Given the description of an element on the screen output the (x, y) to click on. 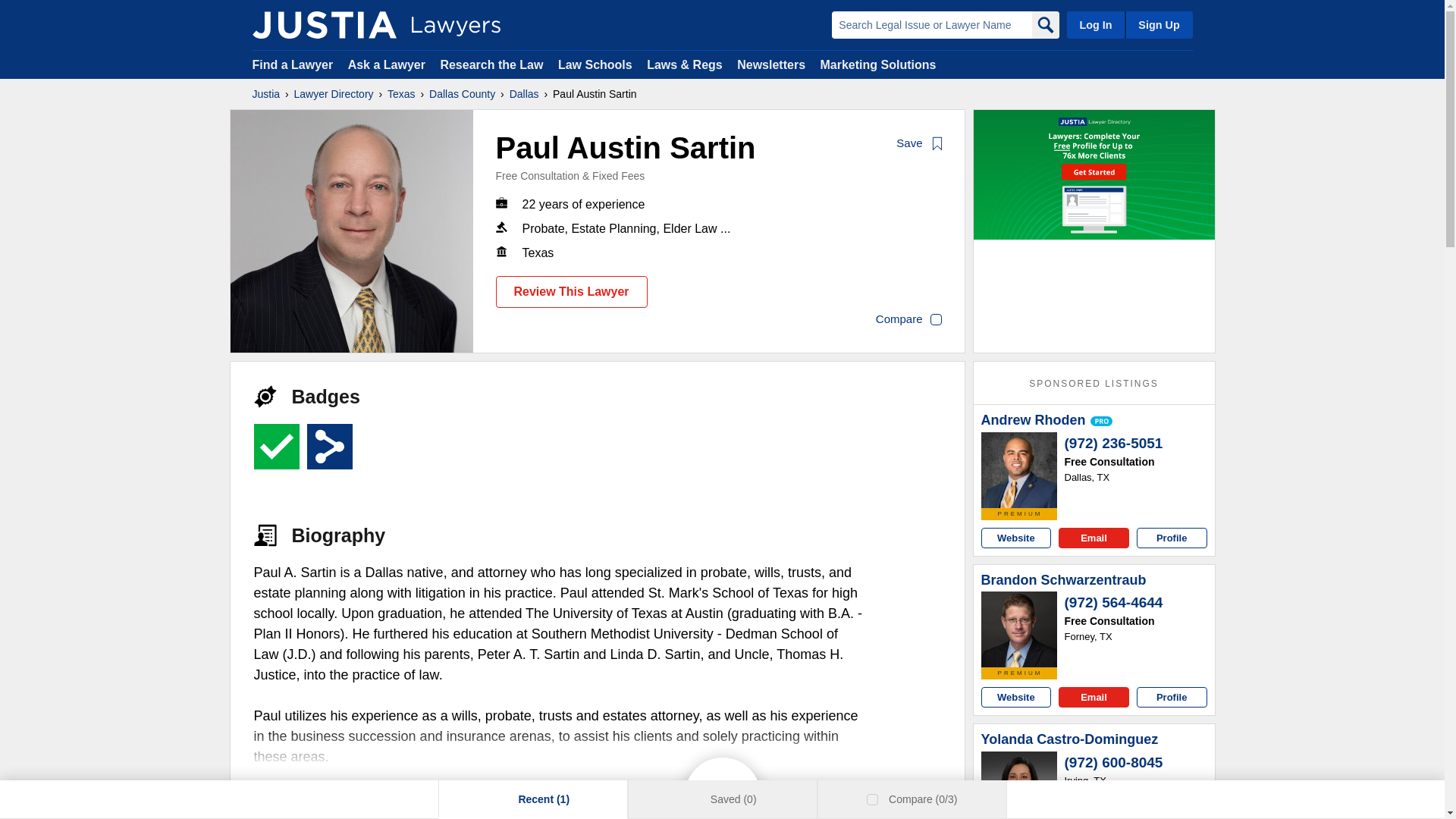
Newsletters (770, 64)
Search (1044, 24)
Andrew Rhoden (1019, 469)
Justia Lawyer Directory (323, 24)
Paul Austin Sartin (351, 230)
Log In (1094, 24)
Save (919, 143)
Yolanda Castro-Dominguez (1019, 785)
Search Legal Issue or Lawyer Name (930, 24)
Justia (265, 93)
Brandon  Schwarzentraub (1019, 629)
Dallas (523, 93)
Find a Lawyer (292, 64)
Sign Up (1158, 24)
Compare (909, 319)
